Given the description of an element on the screen output the (x, y) to click on. 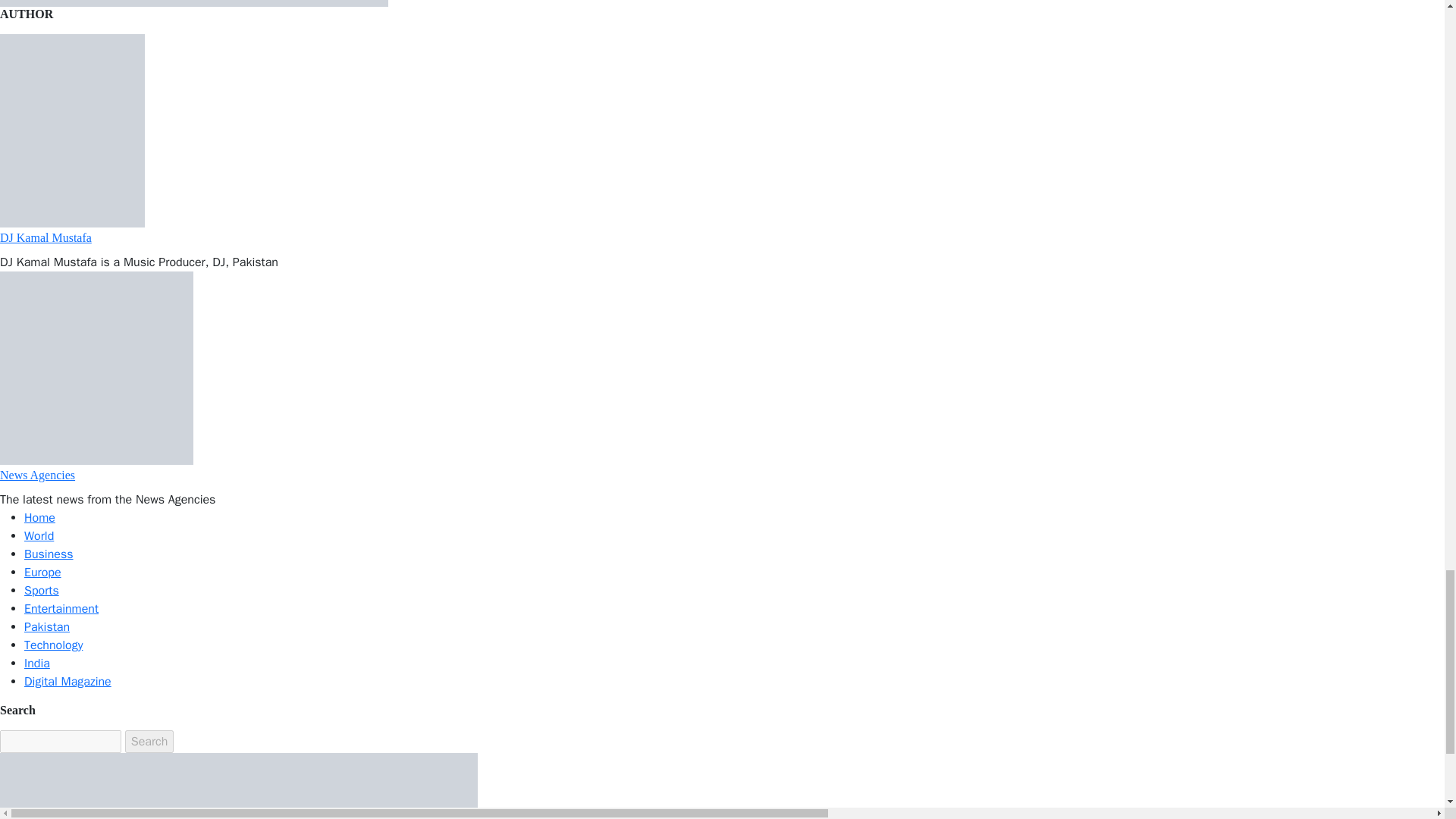
Business (49, 554)
Pakistan (46, 626)
Search (149, 741)
Search (149, 741)
Sports (41, 590)
Technology (53, 645)
World (38, 535)
News Agencies (37, 474)
Europe (42, 572)
Home (39, 517)
DJ Kamal Mustafa (45, 237)
Digital Magazine (68, 681)
Entertainment (61, 608)
India (36, 663)
